Given the description of an element on the screen output the (x, y) to click on. 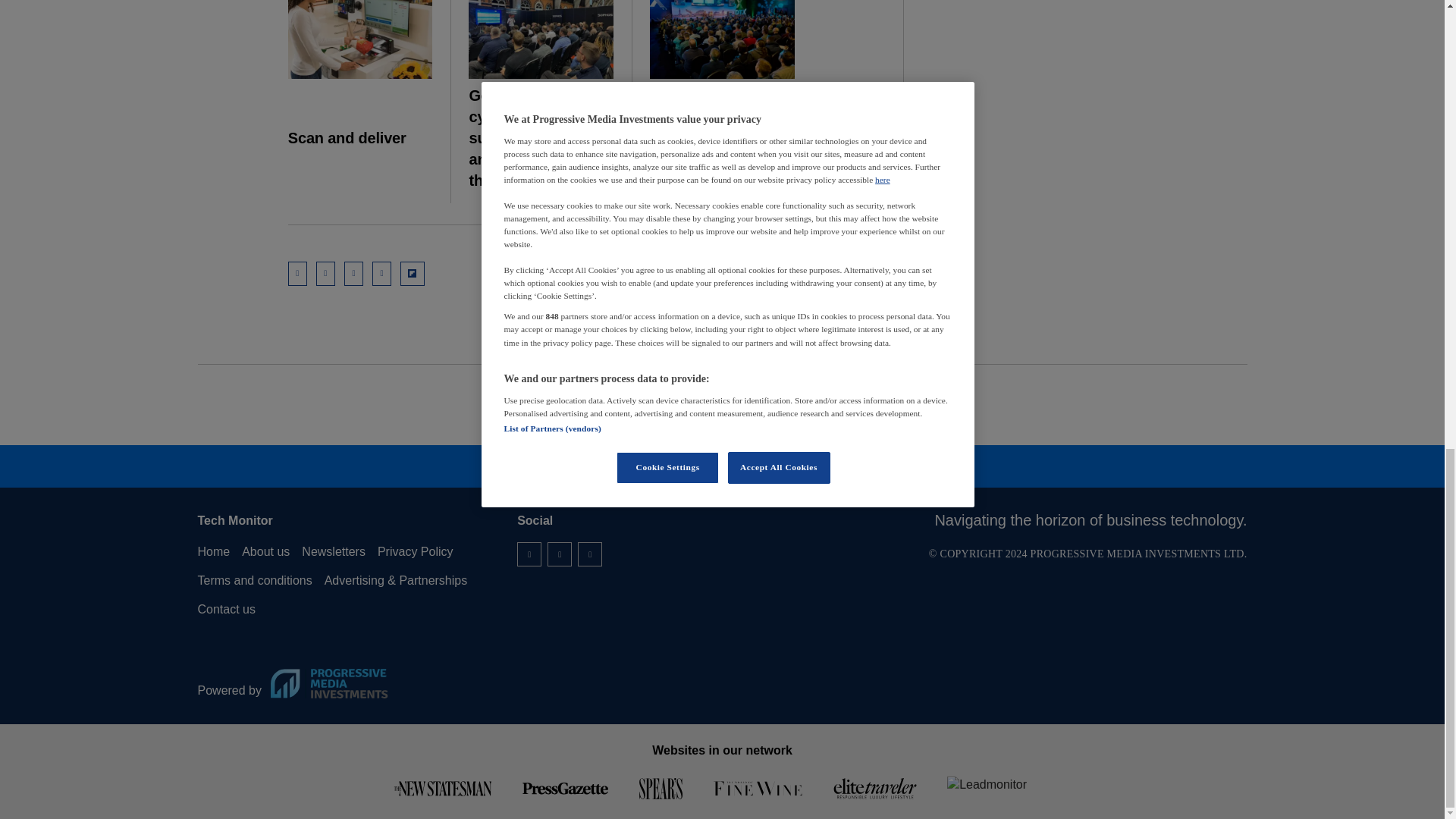
Share on LinkedIN (324, 273)
Scan and deliver (360, 39)
Share on Flipboard (412, 273)
Share on facebook (381, 273)
Share in an email (297, 273)
Share on Twitter (352, 273)
